Given the description of an element on the screen output the (x, y) to click on. 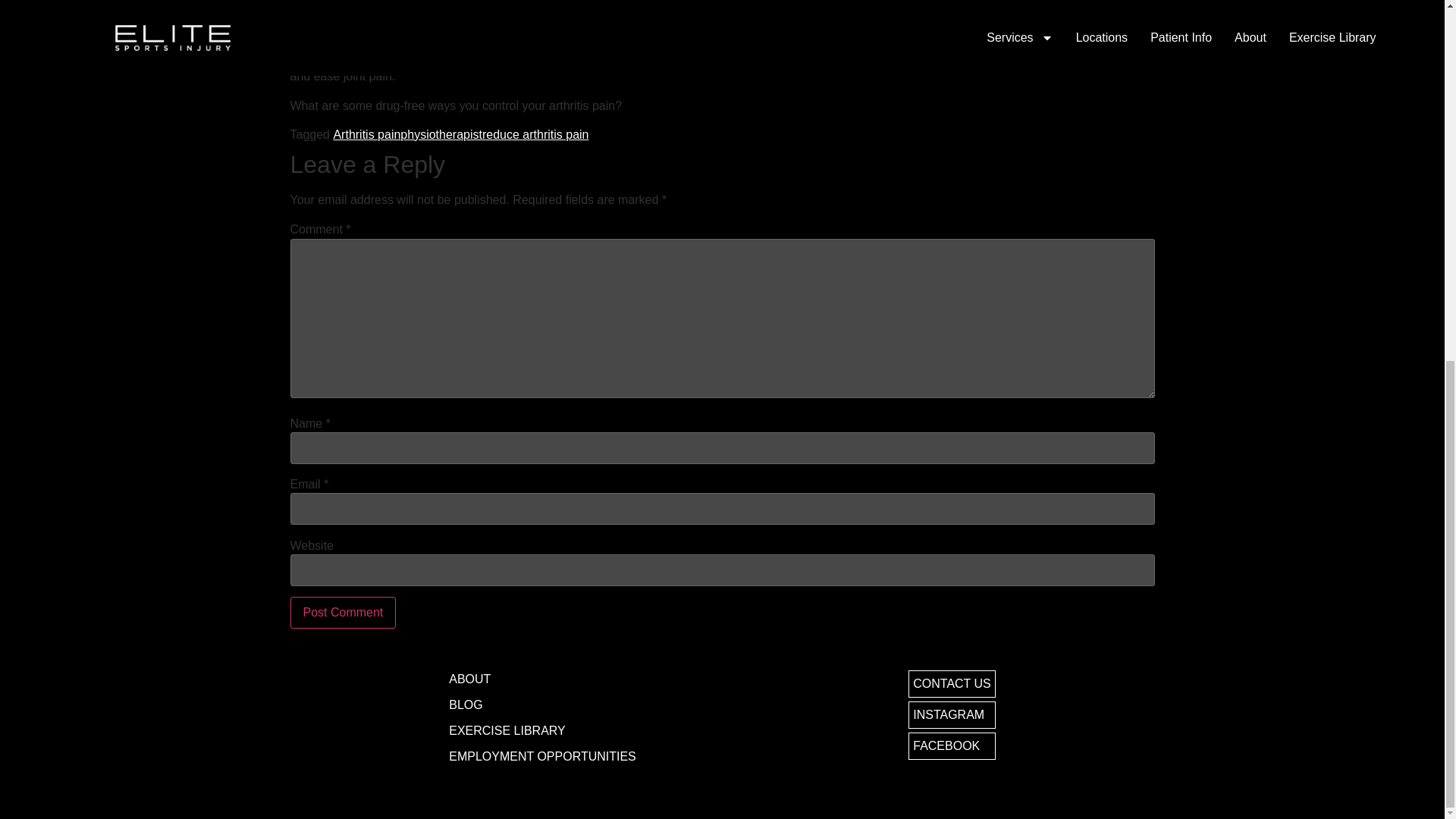
Arthritis pain (366, 133)
BLOG (542, 705)
Centers for Disease Control and Prevention (720, 48)
Post Comment (342, 612)
reduce arthritis pain (535, 133)
Post Comment (342, 612)
physiotherapist (440, 133)
ABOUT (542, 679)
